Given the description of an element on the screen output the (x, y) to click on. 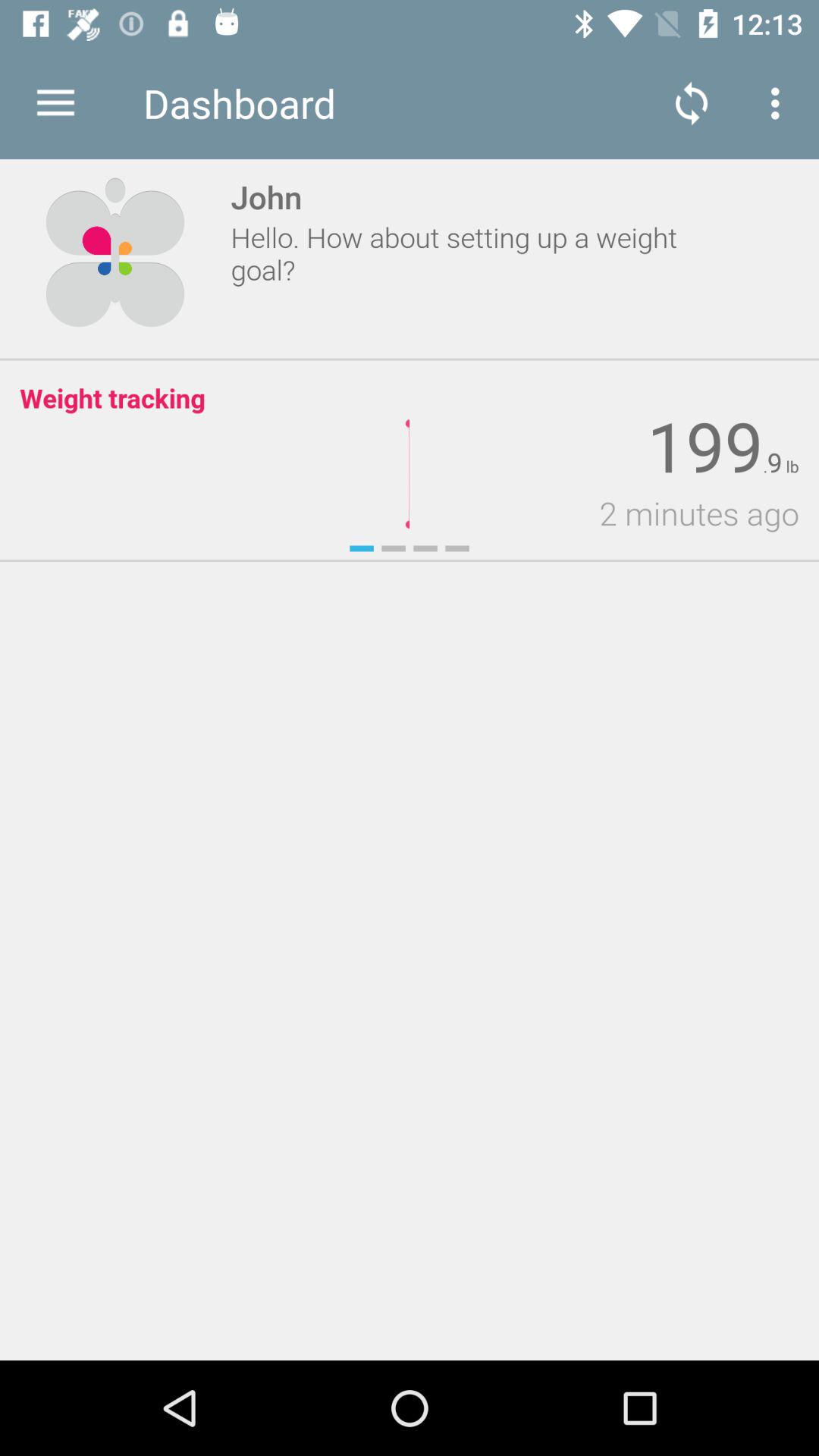
select the app to the left of the  lb app (774, 462)
